Given the description of an element on the screen output the (x, y) to click on. 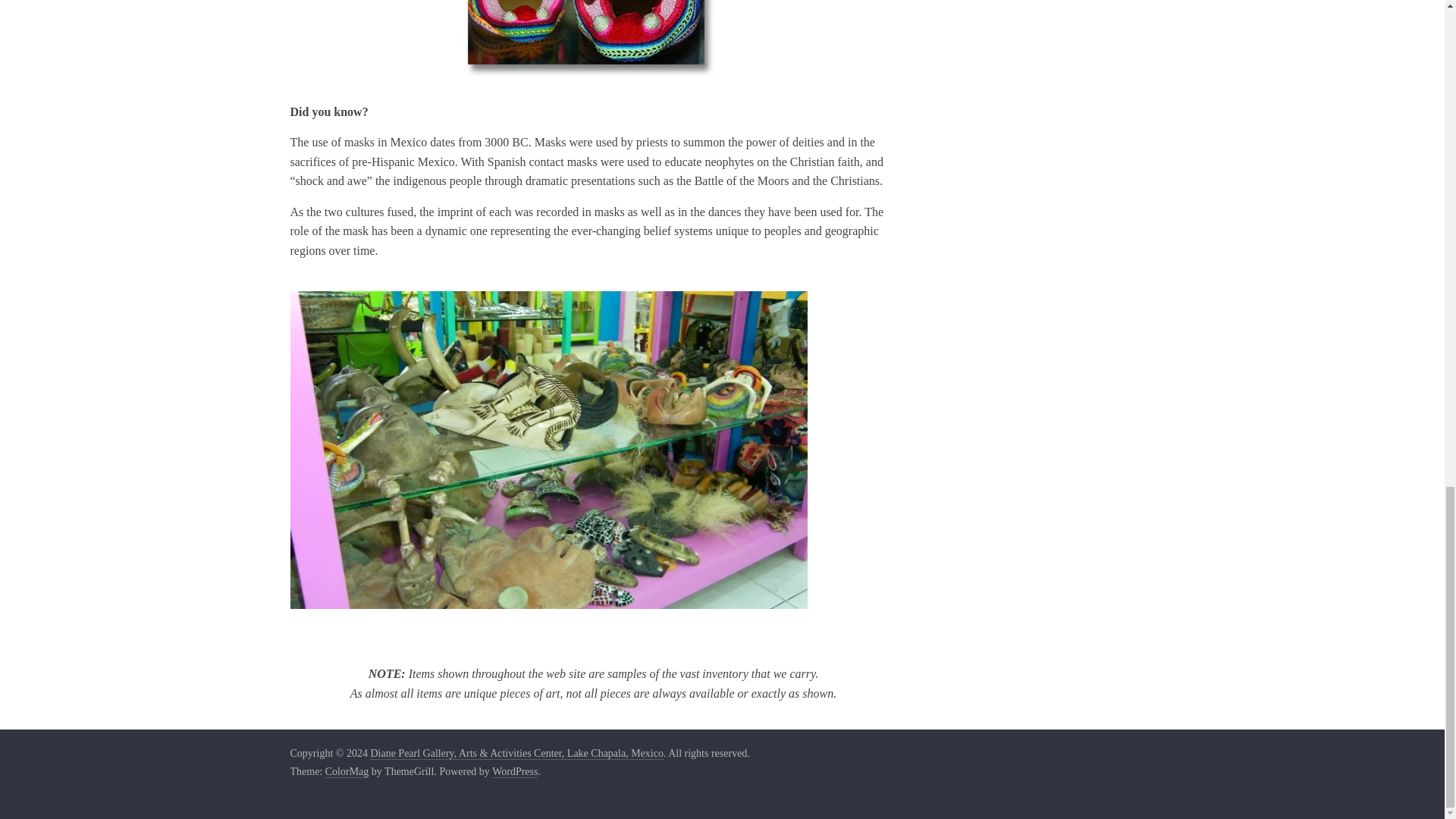
WordPress (514, 771)
ColorMag (346, 771)
WordPress (514, 771)
ColorMag (346, 771)
